Given the description of an element on the screen output the (x, y) to click on. 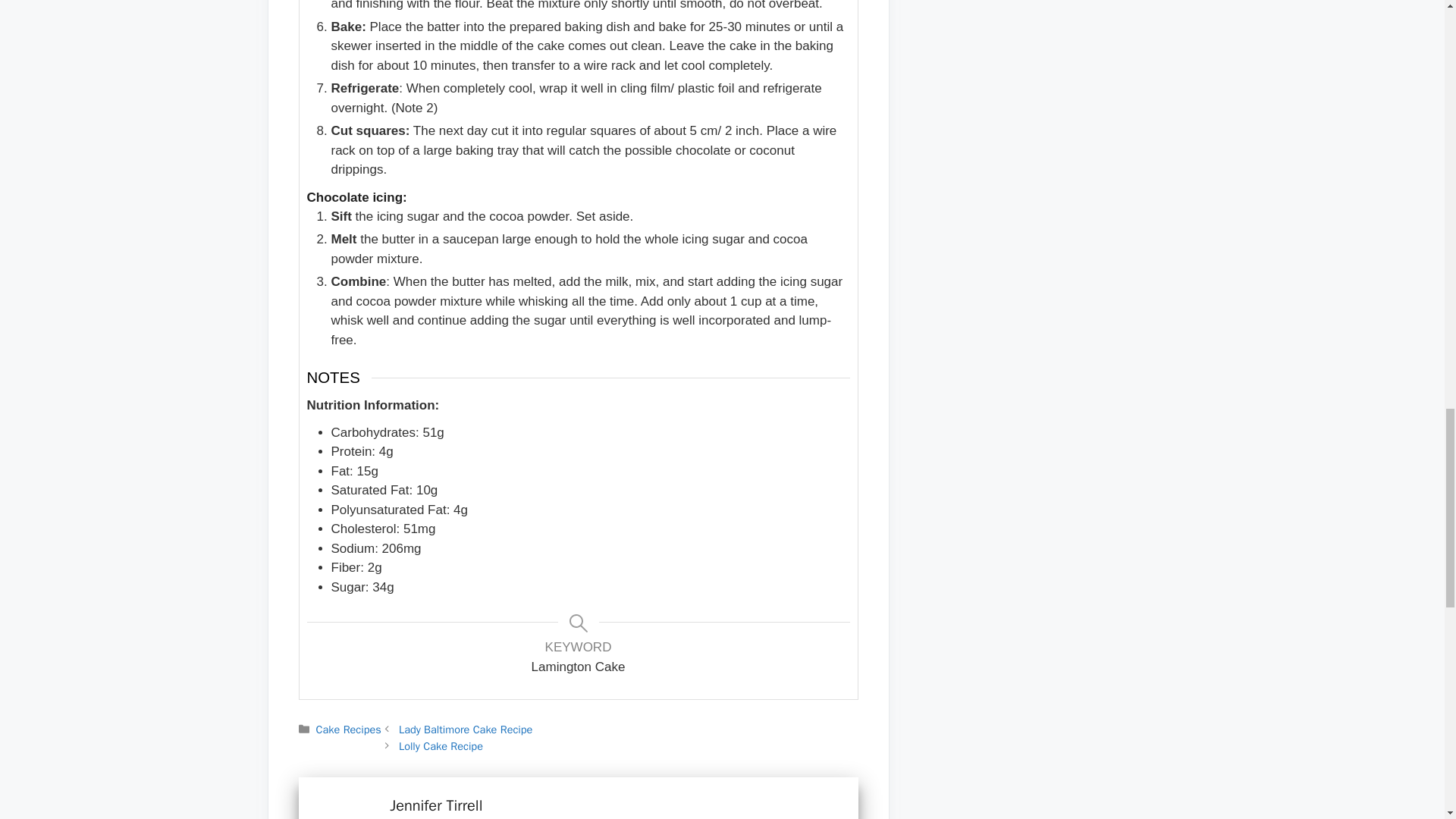
Cake Recipes (348, 729)
Lady Baltimore Cake Recipe (465, 729)
Lolly Cake Recipe (440, 745)
